Given the description of an element on the screen output the (x, y) to click on. 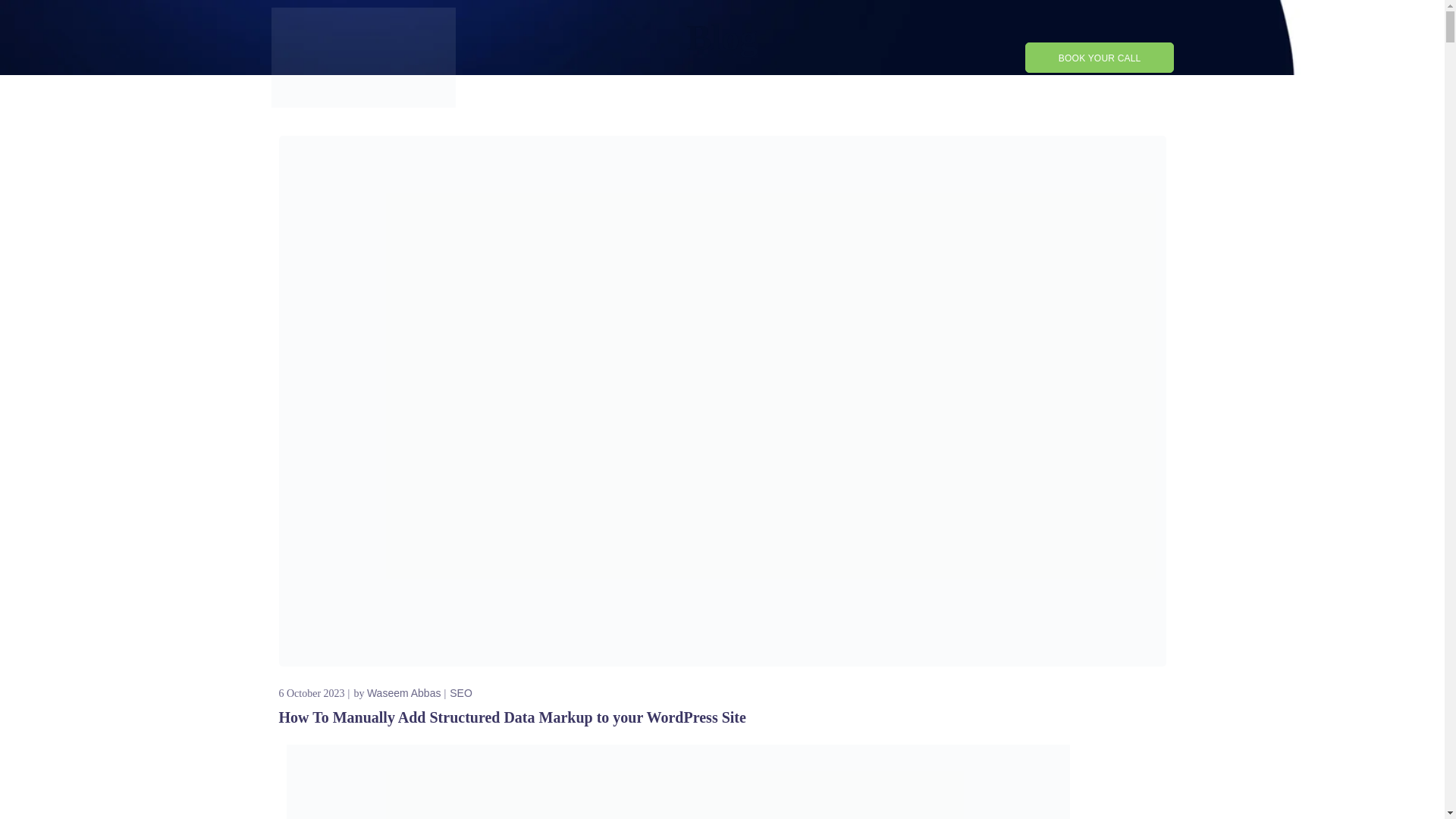
BOOK YOUR CALL (1099, 57)
Data Markup (678, 781)
Waseem Abbas (403, 693)
SEO (460, 693)
